Given the description of an element on the screen output the (x, y) to click on. 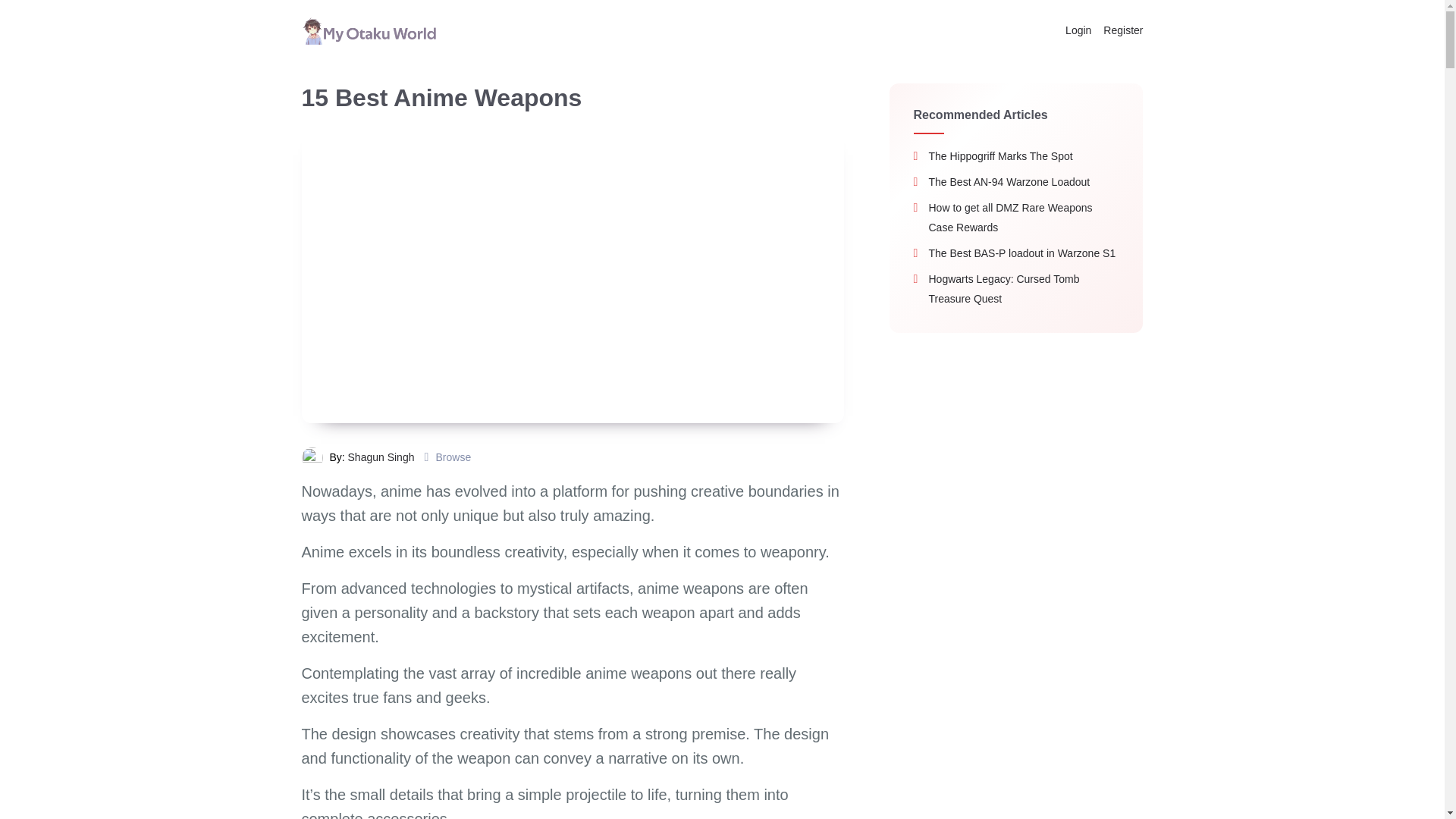
Login (1078, 29)
Register (1119, 29)
My Otaku World (369, 30)
